Given the description of an element on the screen output the (x, y) to click on. 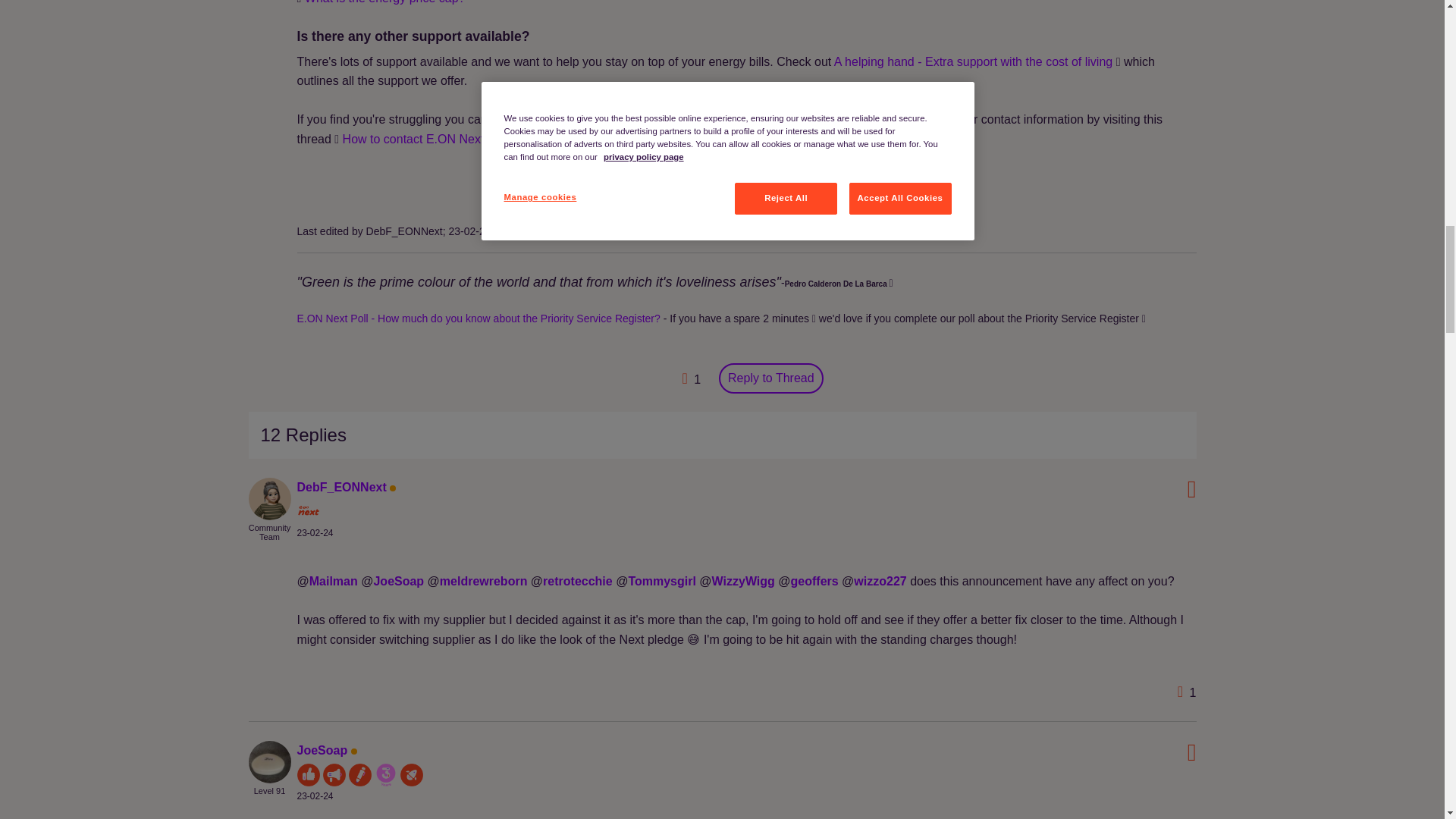
Influencer Lvl 5 (308, 774)
Generator Lvl 5 (360, 774)
JoeSoap is offline (269, 760)
JoeSoap's Avatar (269, 761)
Explorer Level 5 (411, 774)
Cheerleader Lvl 5 (334, 774)
JoeSoap is offline (322, 749)
Registered 3 Years (385, 774)
